Given the description of an element on the screen output the (x, y) to click on. 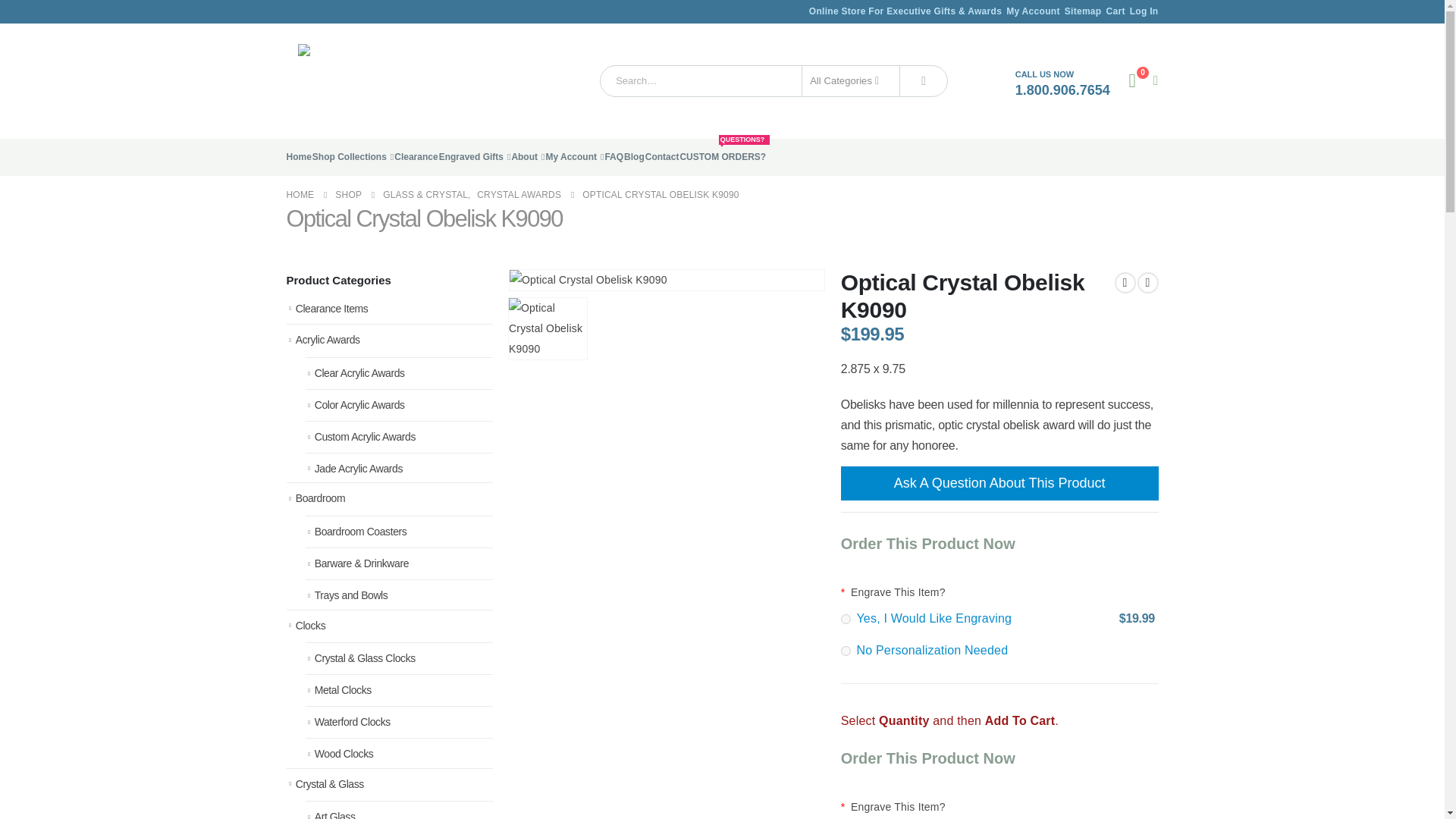
Optical Crystal Obelisk K9090 (547, 328)
Shop Collections (353, 157)
Go to Home Page (300, 195)
Log In (1143, 11)
My Account (1035, 11)
Sitemap (1084, 11)
Optical Crystal Obelisk K9090 (587, 280)
Cart (1116, 11)
Search (923, 81)
